Given the description of an element on the screen output the (x, y) to click on. 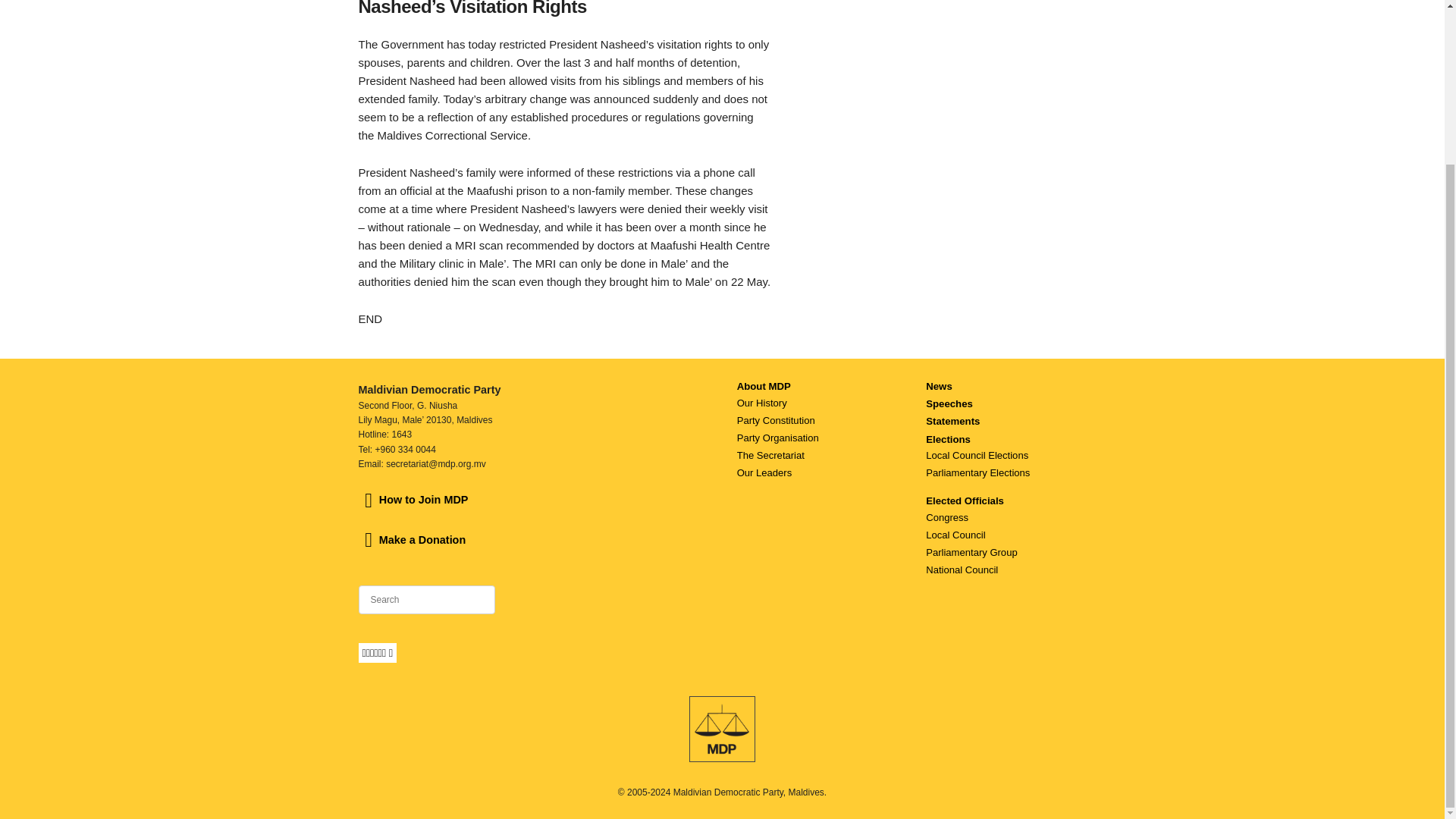
Make a Donation (411, 539)
News (939, 386)
Our Leaders (764, 472)
Party Constitution (775, 419)
Party Organisation (777, 437)
Speeches (949, 403)
Local Council Elections (976, 455)
About MDP (763, 386)
Our History (761, 402)
How to Join MDP (412, 499)
Statements (952, 420)
The Secretariat (770, 455)
Elections (948, 439)
